Given the description of an element on the screen output the (x, y) to click on. 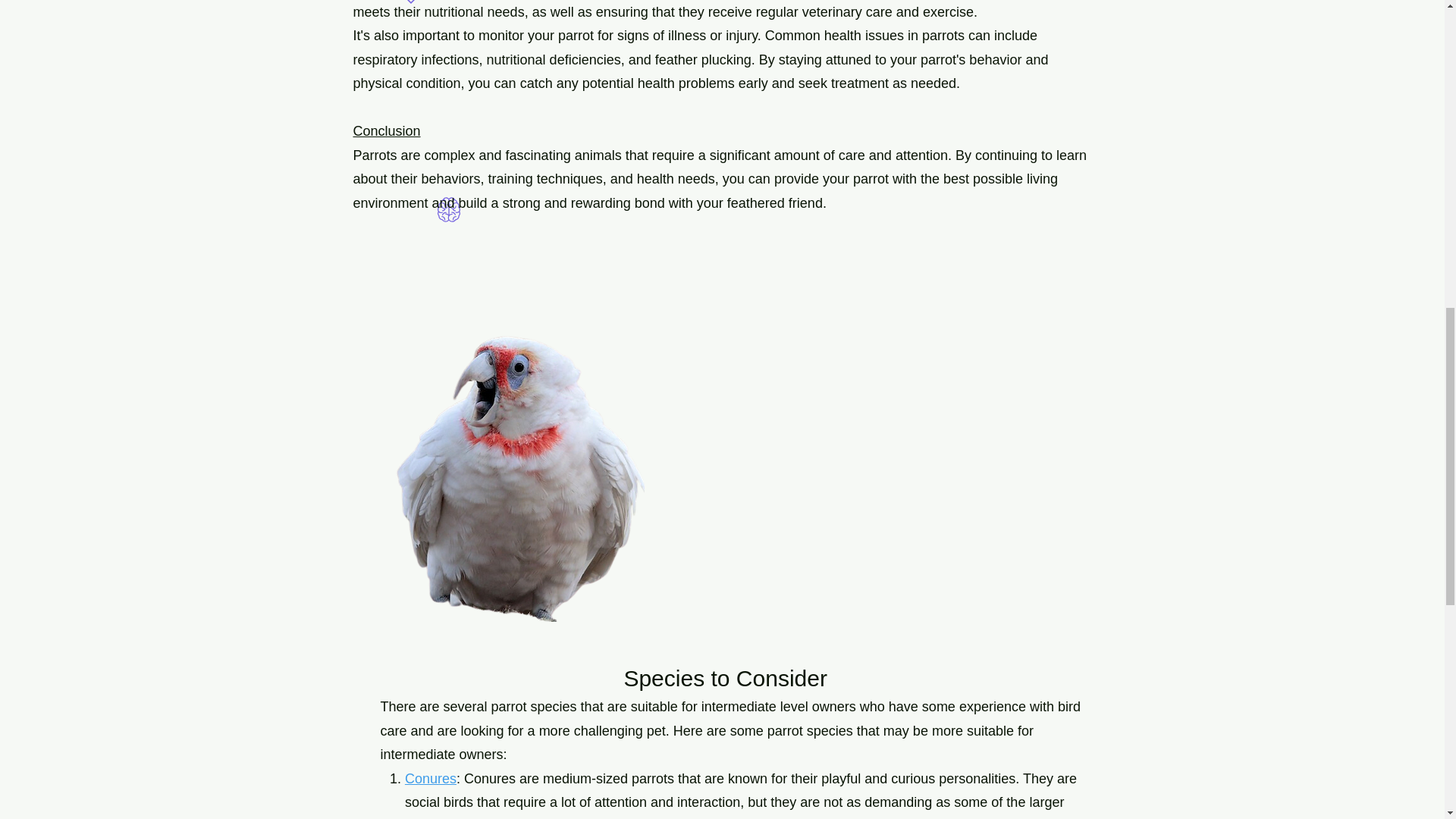
900 - Edited.png (512, 475)
Conures (430, 777)
